Given the description of an element on the screen output the (x, y) to click on. 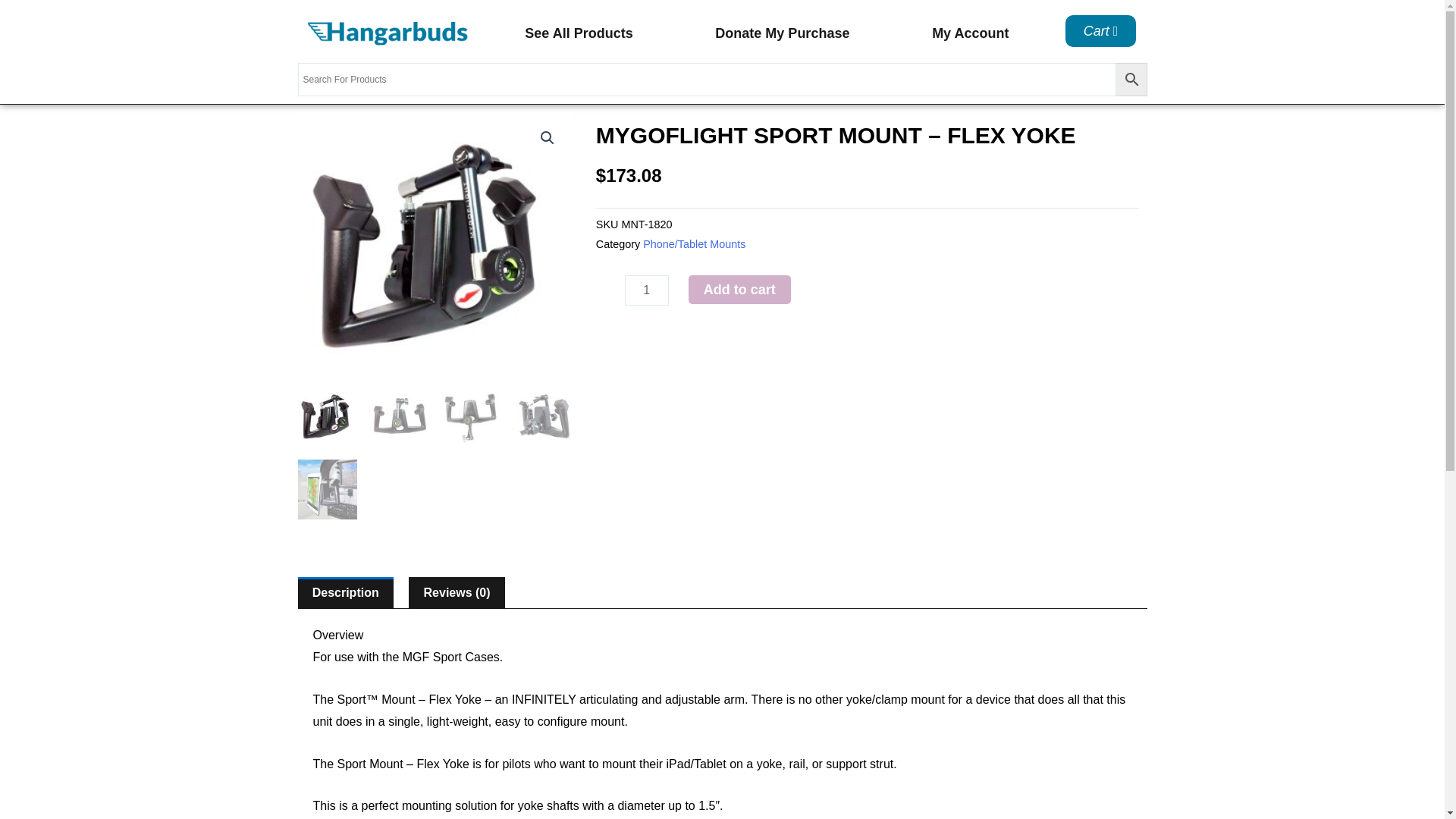
Description (345, 593)
Add to cart (739, 289)
See All Products (578, 33)
Donate My Purchase (782, 33)
Cart (1101, 30)
1 (646, 290)
MYGOFLIGHT SPORT MOUNT - FLEX YOKE-1-min (434, 249)
My Account (970, 33)
